Given the description of an element on the screen output the (x, y) to click on. 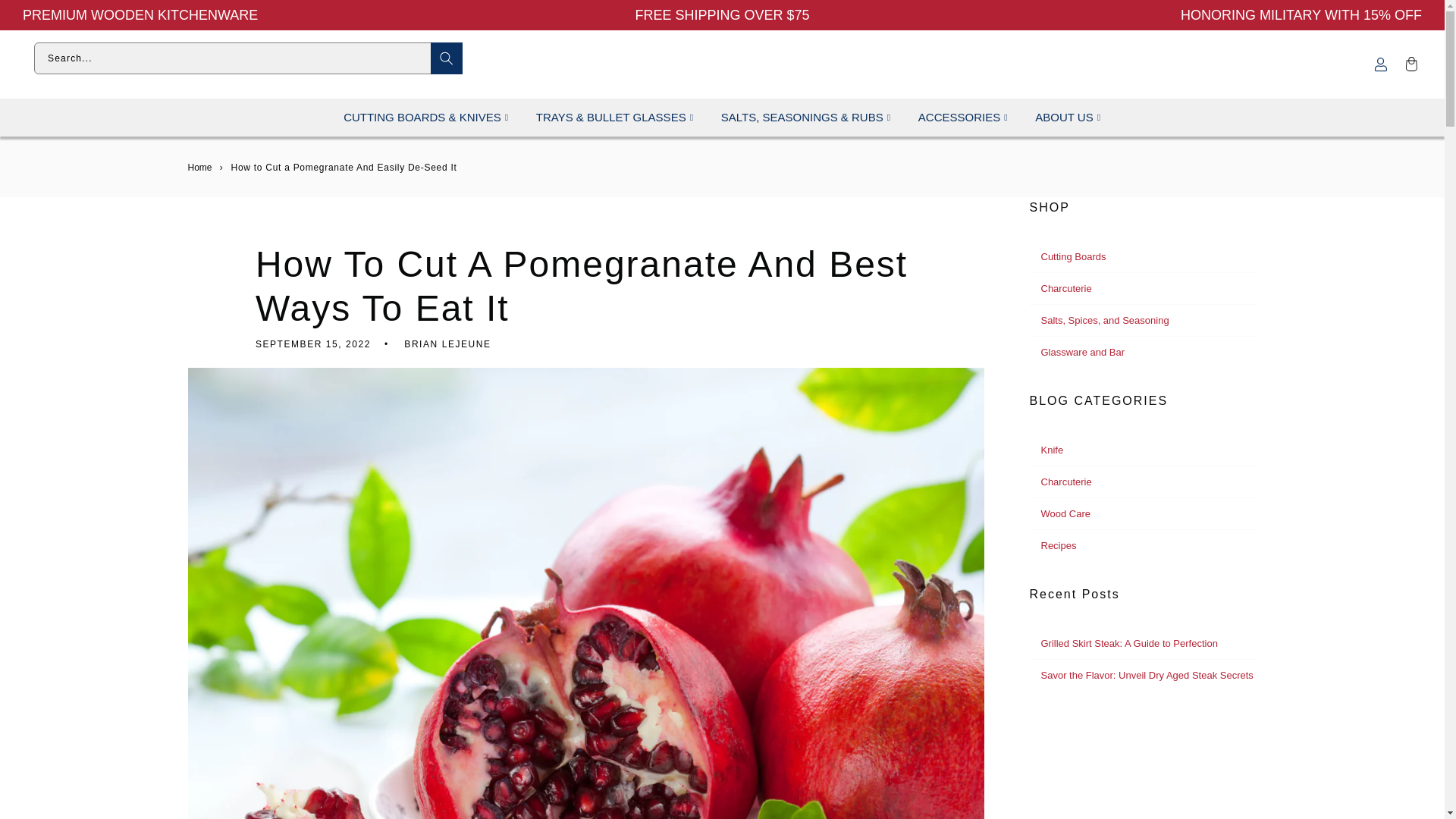
ACCESSORIES (959, 117)
ABOUT US (1064, 117)
Home (199, 167)
